Given the description of an element on the screen output the (x, y) to click on. 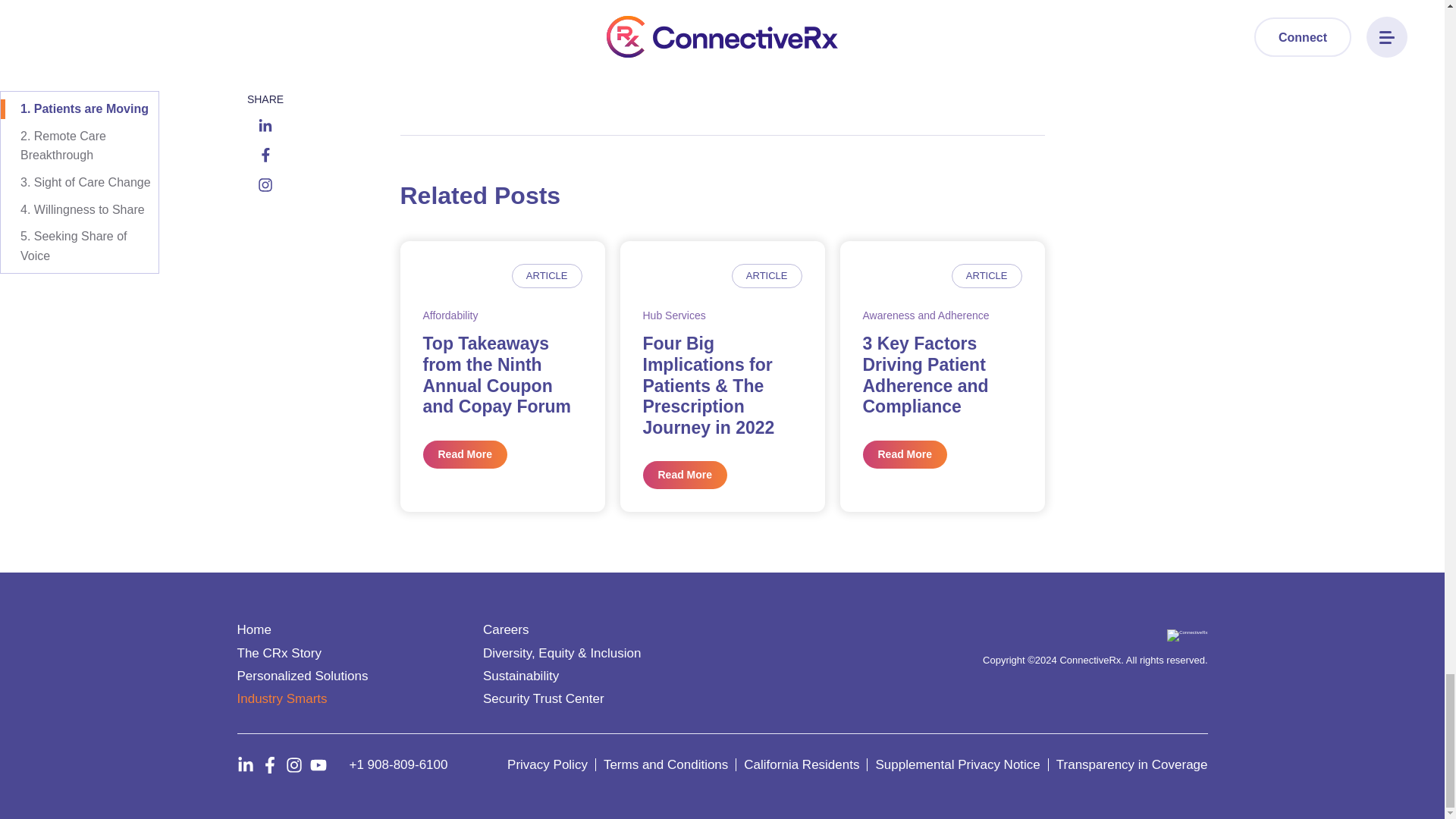
The CRx Story (277, 652)
Home (252, 629)
Careers (505, 629)
Industry Smarts (280, 698)
Security Trust Center (543, 698)
3 Key Factors Driving Patient Adherence and Compliance (925, 374)
Read More (905, 454)
Hub Services (674, 315)
Read More (685, 474)
Top Takeaways from the Ninth Annual Coupon and Copay Forum (497, 374)
Sustainability (521, 676)
Awareness and Adherence (926, 315)
Read More (465, 454)
Personalized Solutions (301, 676)
Affordability (451, 315)
